Given the description of an element on the screen output the (x, y) to click on. 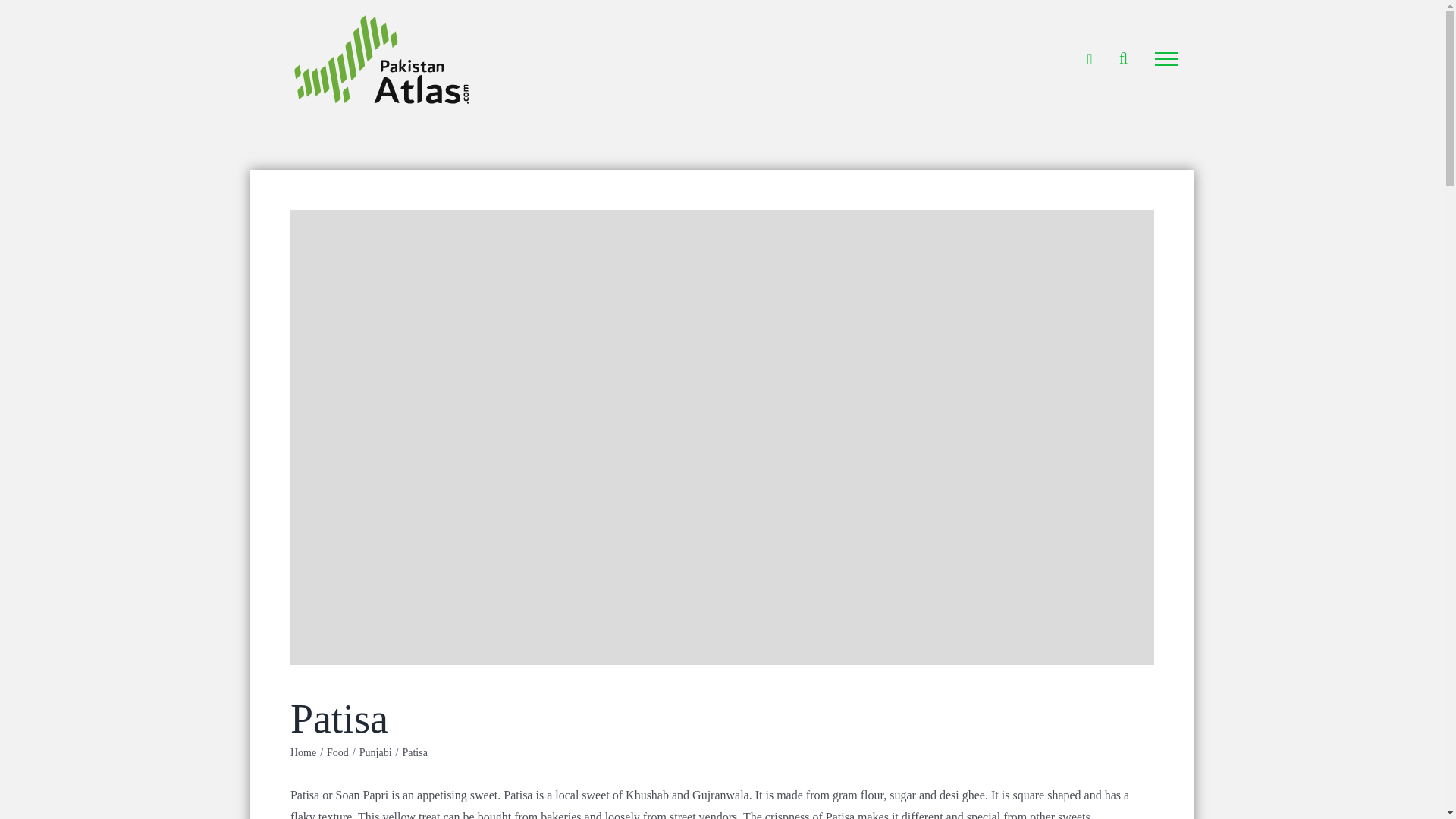
Punjabi (375, 752)
Home (302, 752)
Food (337, 752)
